Given the description of an element on the screen output the (x, y) to click on. 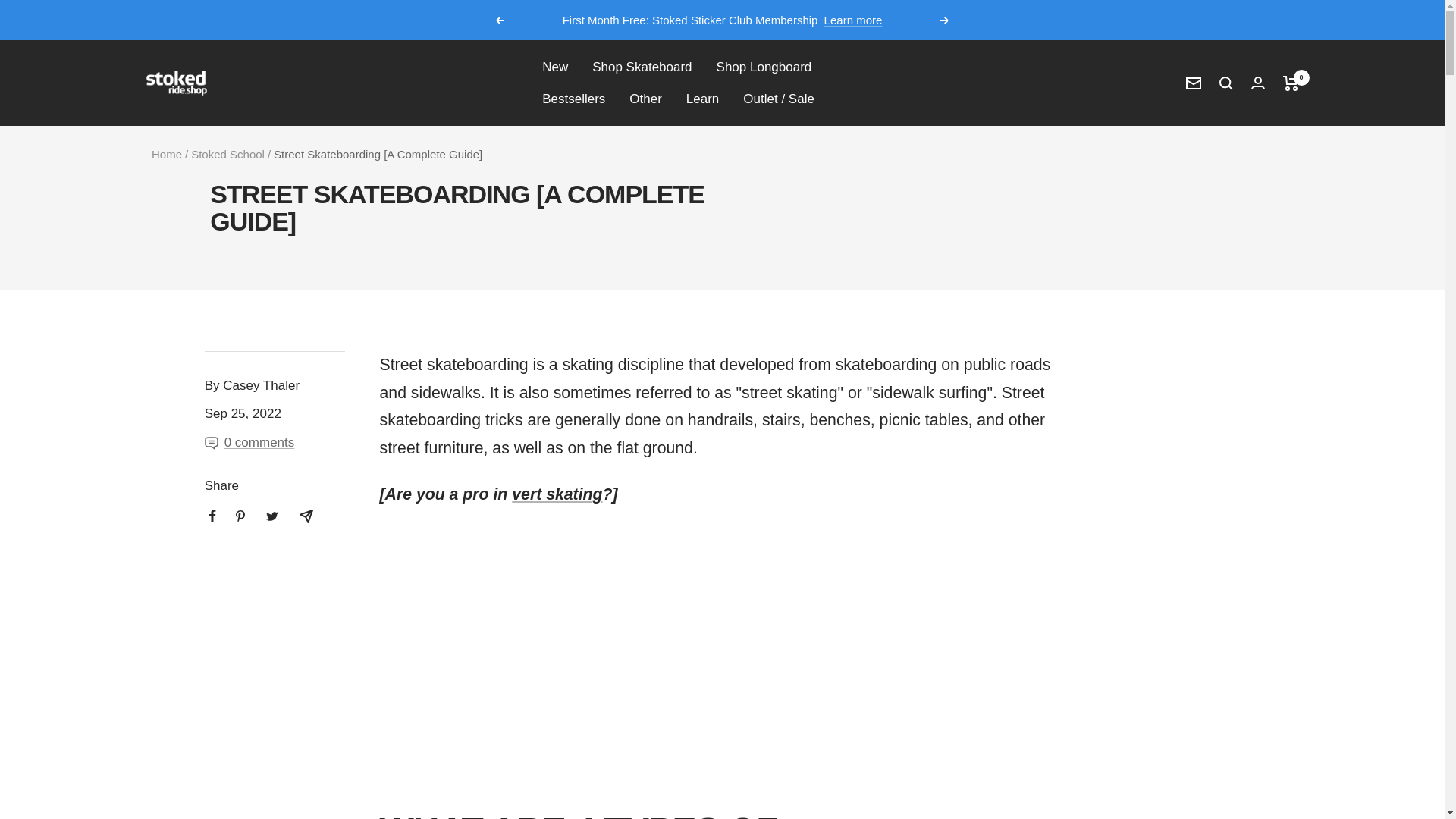
YouTube video player (590, 646)
Bestsellers (573, 98)
Learn more (853, 19)
Next (944, 20)
Newsletter (1193, 82)
0 (1290, 83)
New (554, 66)
Shop Skateboard (641, 66)
Learn (702, 98)
Other (645, 98)
Previous (499, 20)
Stoked Ride Shop (175, 83)
Shop Longboard (764, 66)
